Given the description of an element on the screen output the (x, y) to click on. 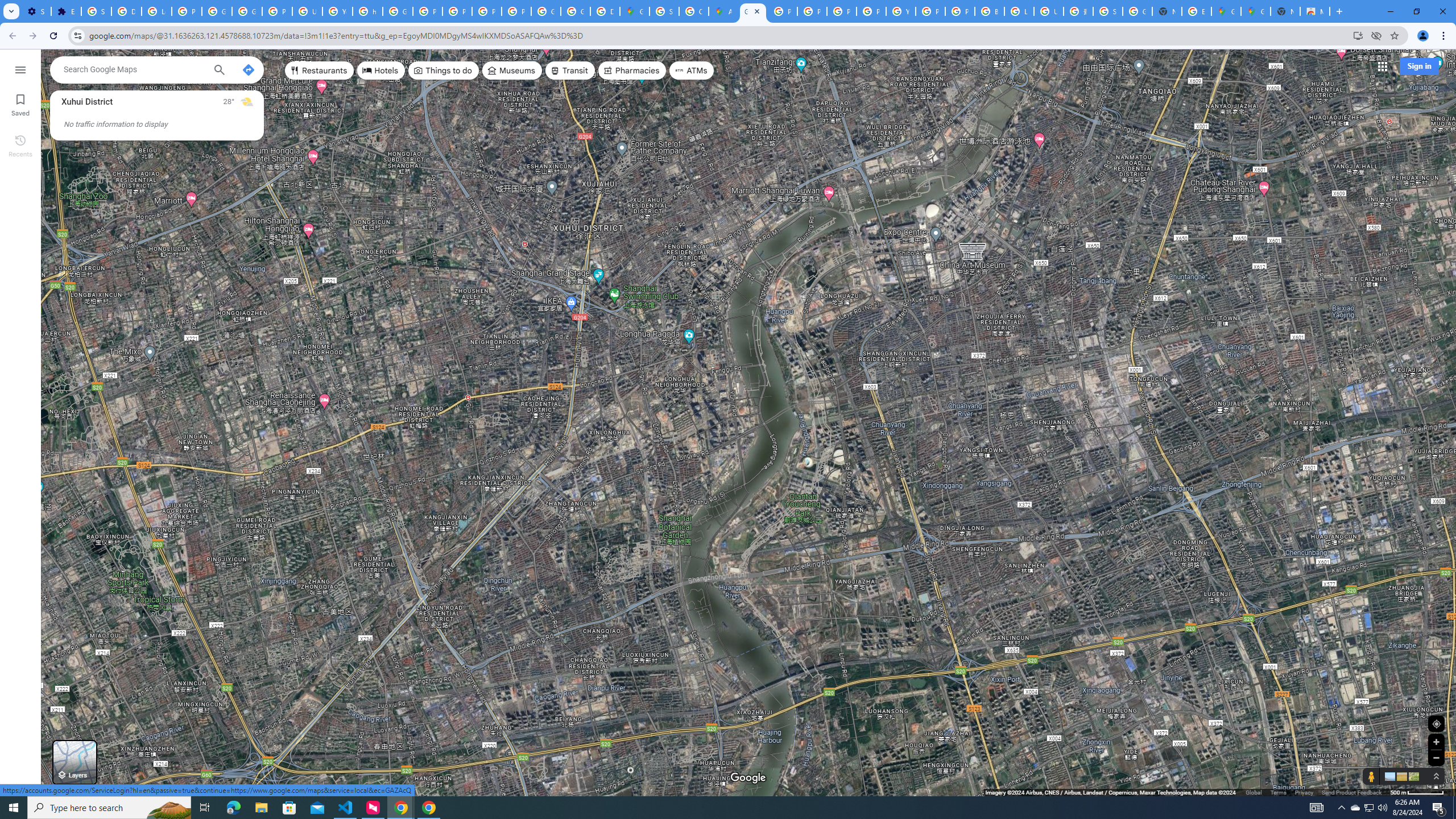
Privacy Help Center - Policies Help (426, 11)
Restaurants (319, 70)
Google Account Help (216, 11)
Google Maps (1226, 11)
Saved (20, 104)
Pharmacies (632, 70)
Explore new street-level details - Google Maps Help (1196, 11)
New Tab (1284, 11)
